Given the description of an element on the screen output the (x, y) to click on. 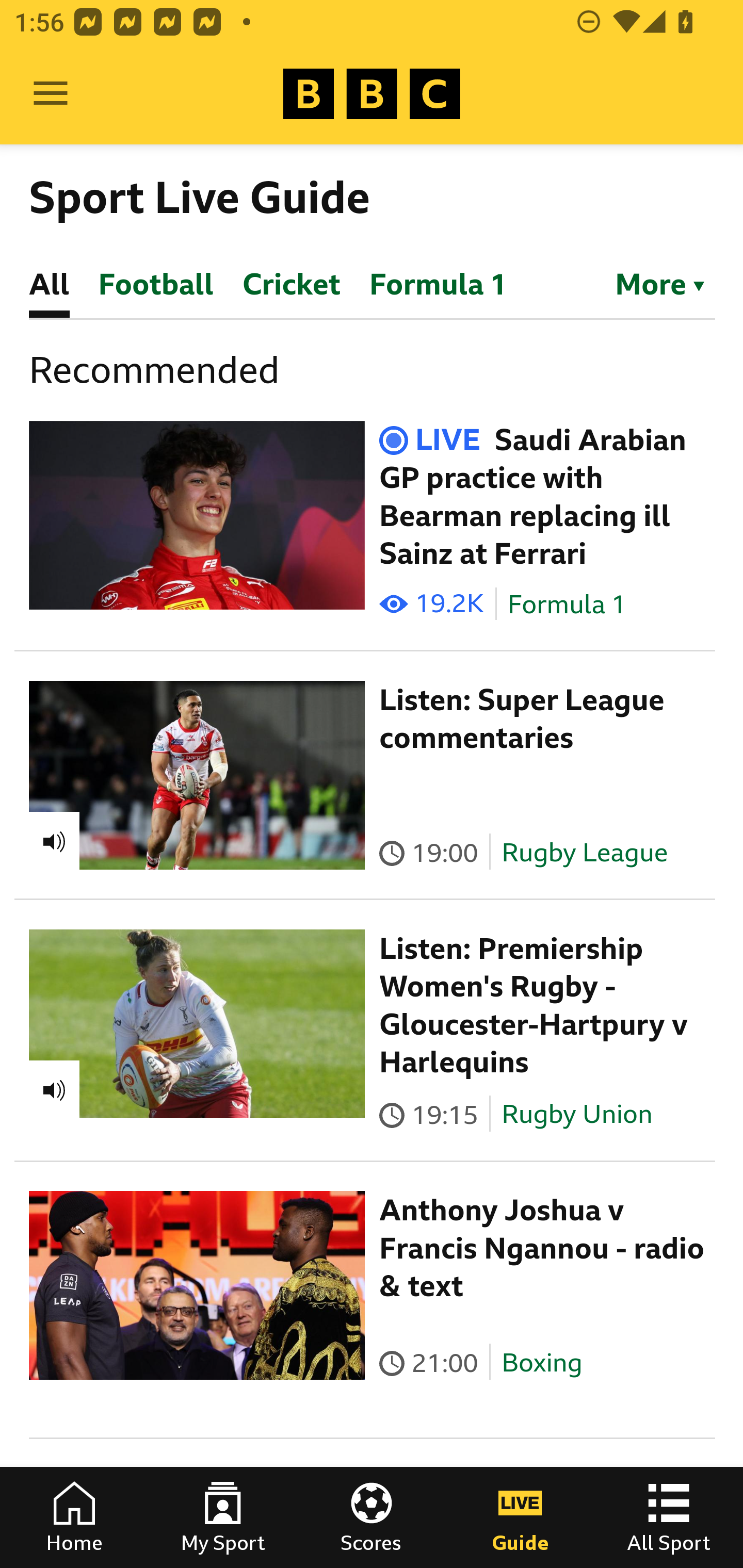
Open Menu (50, 93)
Formula 1 (566, 604)
Listen: Super League commentaries (522, 718)
Rugby League (584, 851)
Rugby Union (576, 1113)
Anthony Joshua v Francis Ngannou - radio & text (541, 1248)
Boxing (541, 1362)
Home (74, 1517)
My Sport (222, 1517)
Scores (371, 1517)
All Sport (668, 1517)
